Given the description of an element on the screen output the (x, y) to click on. 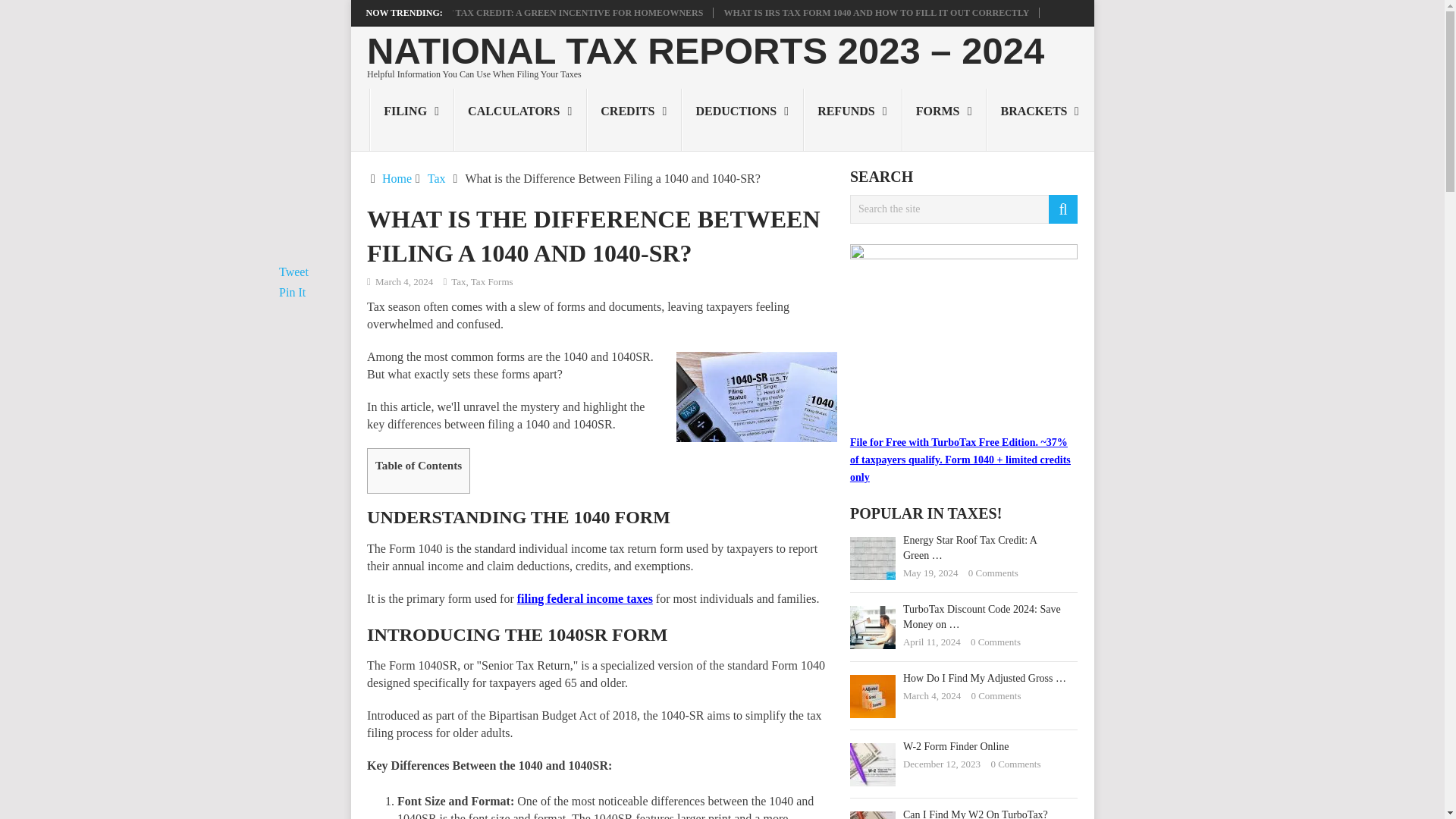
FILING (411, 119)
What is IRS Tax Form 1040 and How to Fill It Out Correctly (876, 12)
CALCULATORS (520, 119)
CREDITS (633, 119)
WHAT IS IRS TAX FORM 1040 AND HOW TO FILL IT OUT CORRECTLY (876, 12)
View all posts in Tax (458, 281)
DEDUCTIONS (742, 119)
View all posts in Tax Forms (491, 281)
